Given the description of an element on the screen output the (x, y) to click on. 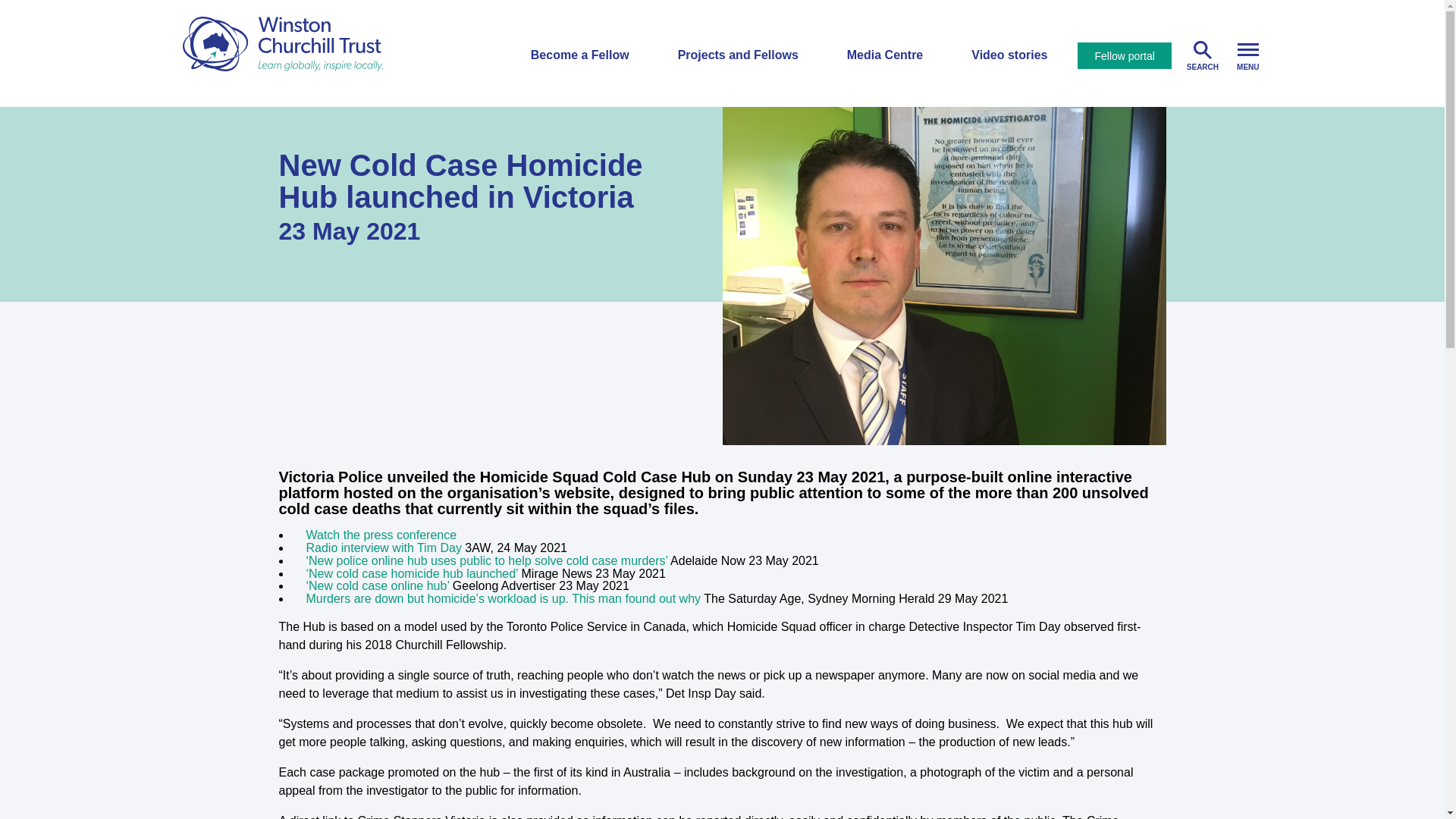
Media Centre (885, 54)
Become a Fellow (579, 54)
SEARCH (1202, 54)
Projects and Fellows (737, 54)
Video stories (1008, 54)
Radio interview with Tim Day (383, 547)
Fellow portal (1123, 55)
Watch the press conference (381, 534)
MENU (1247, 54)
